Given the description of an element on the screen output the (x, y) to click on. 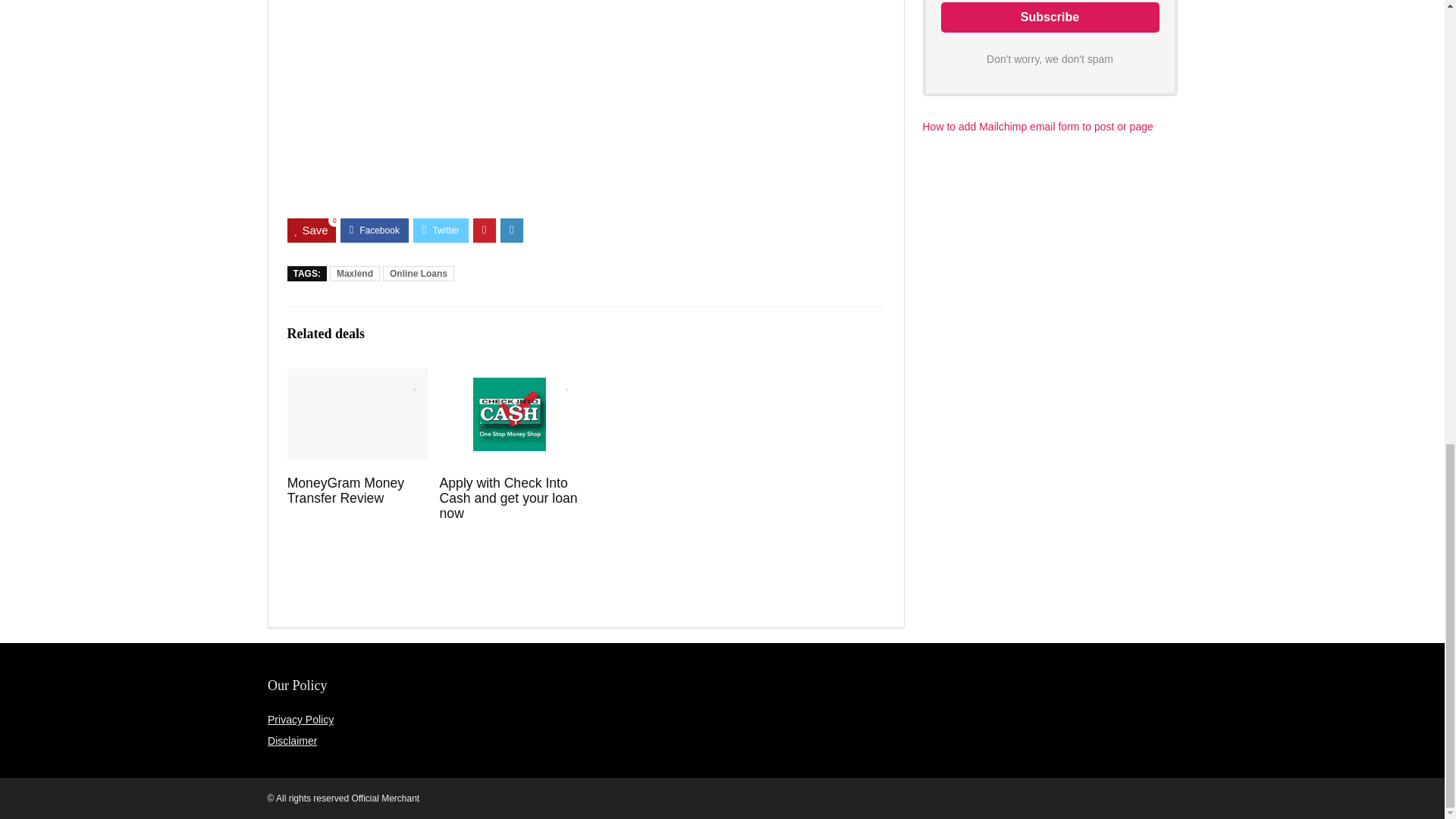
YouTube video player (584, 103)
How to add Mailchimp email form to post or page (1037, 126)
Online Loans (418, 273)
Subscribe (1049, 17)
Subscribe (1049, 17)
Privacy Policy (300, 719)
Disclaimer (292, 740)
MoneyGram Money Transfer Review (345, 490)
Apply with Check Into Cash and get your loan now (508, 497)
Maxlend (355, 273)
